Given the description of an element on the screen output the (x, y) to click on. 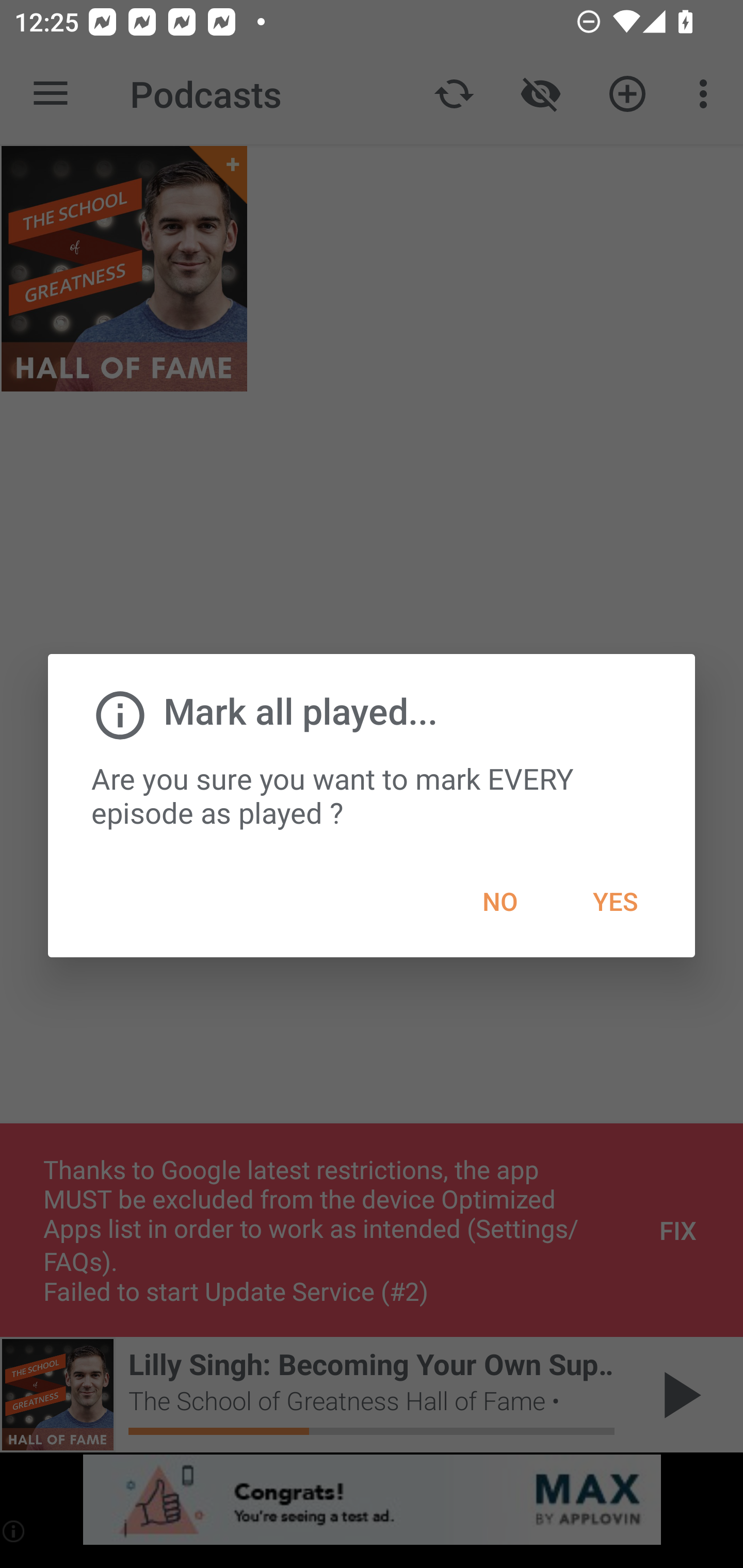
NO (499, 901)
YES (615, 901)
